Given the description of an element on the screen output the (x, y) to click on. 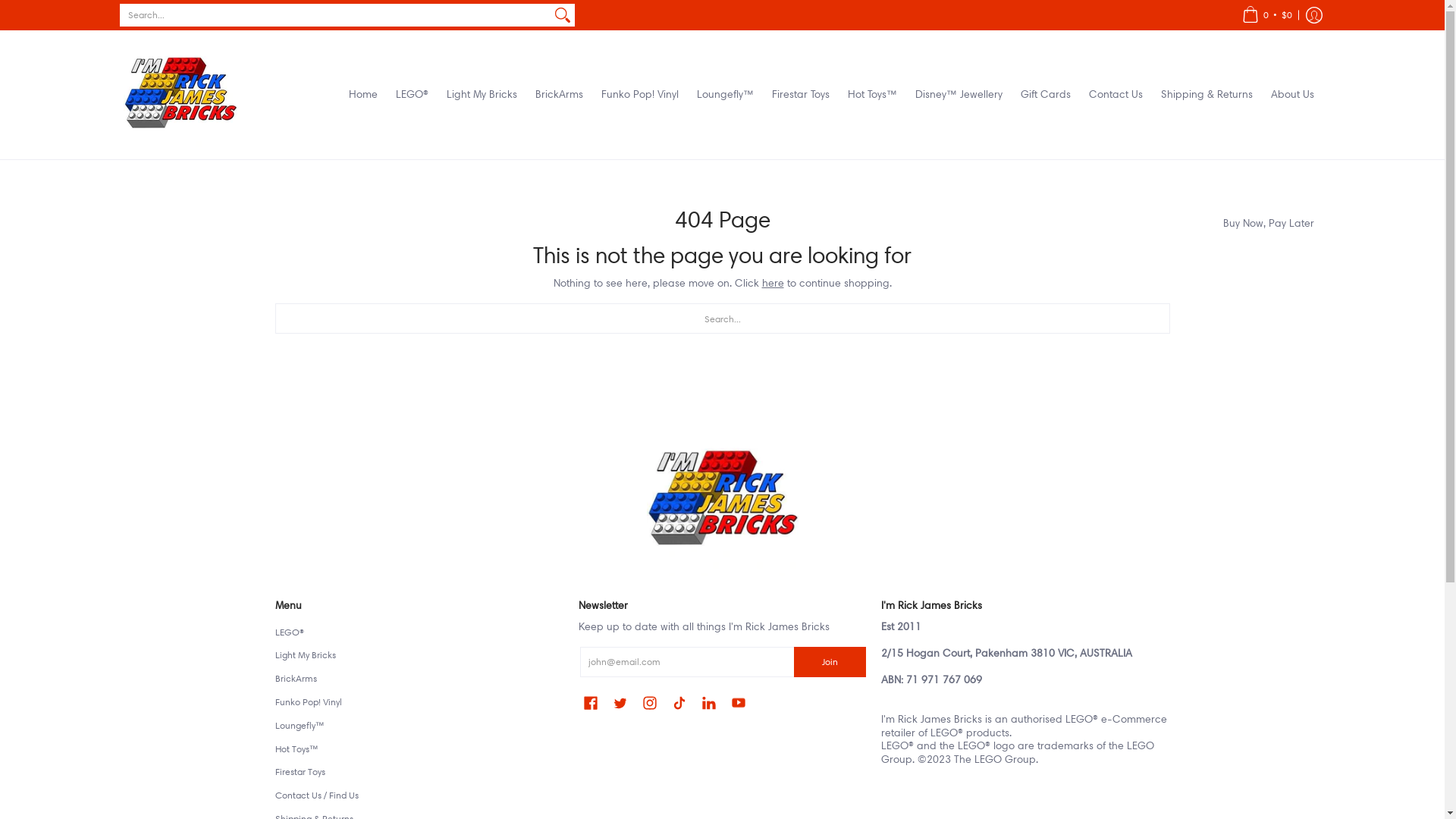
Funko Pop! Vinyl Element type: text (639, 94)
Funko Pop! Vinyl Element type: text (308, 701)
Light My Bricks Element type: text (305, 654)
Shipping & Returns Element type: text (1205, 94)
BrickArms Element type: text (295, 678)
Contact Us Element type: text (1115, 94)
Firestar Toys Element type: text (800, 94)
TikTok Element type: hover (679, 702)
Light My Bricks Element type: text (481, 94)
Facebook Element type: hover (590, 702)
BrickArms Element type: text (558, 94)
Gift Cards Element type: text (1045, 94)
Twitter Element type: hover (619, 702)
Log in Element type: hover (1313, 15)
Join Element type: text (829, 661)
Instagram Element type: hover (649, 702)
About Us Element type: text (1292, 94)
I'm Rick James Bricks Element type: hover (721, 569)
YouTube Element type: hover (738, 702)
here Element type: text (772, 282)
Contact Us / Find Us Element type: text (316, 794)
LinkedIn Element type: hover (708, 702)
I'm Rick James Bricks Element type: hover (179, 94)
Firestar Toys Element type: text (300, 771)
Home Element type: text (363, 94)
Buy Now, Pay Later Element type: text (1267, 223)
